Given the description of an element on the screen output the (x, y) to click on. 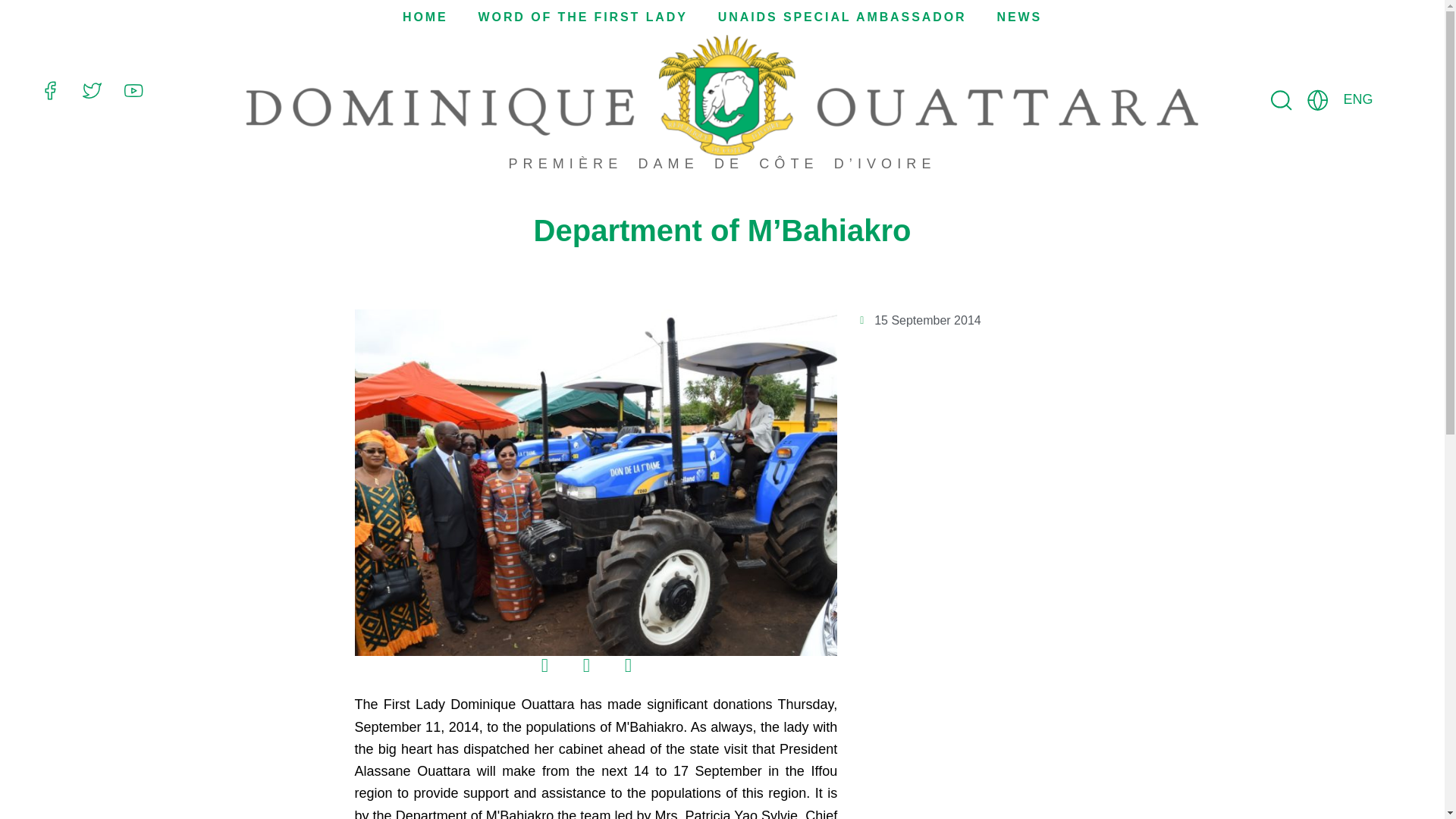
UNAIDS SPECIAL AMBASSADOR (842, 17)
WORD OF THE FIRST LADY (583, 17)
15 September 2014 (920, 320)
ENG (1358, 99)
NEWS (1019, 17)
HOME (425, 17)
